Given the description of an element on the screen output the (x, y) to click on. 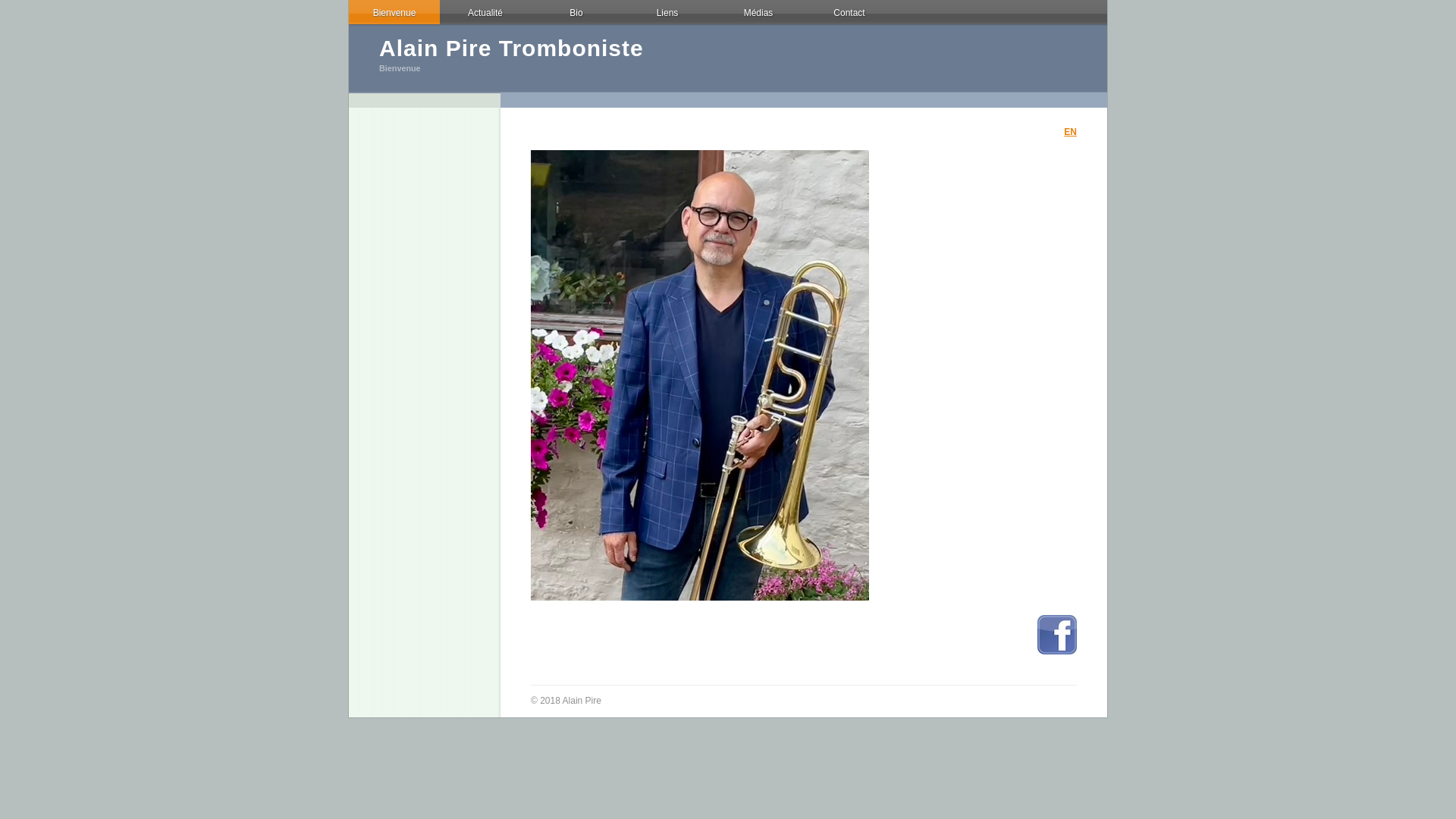
Bio Element type: text (575, 12)
Bienvenue Element type: text (393, 12)
EN Element type: text (1069, 131)
Liens Element type: text (666, 12)
Contact Element type: text (848, 12)
